Given the description of an element on the screen output the (x, y) to click on. 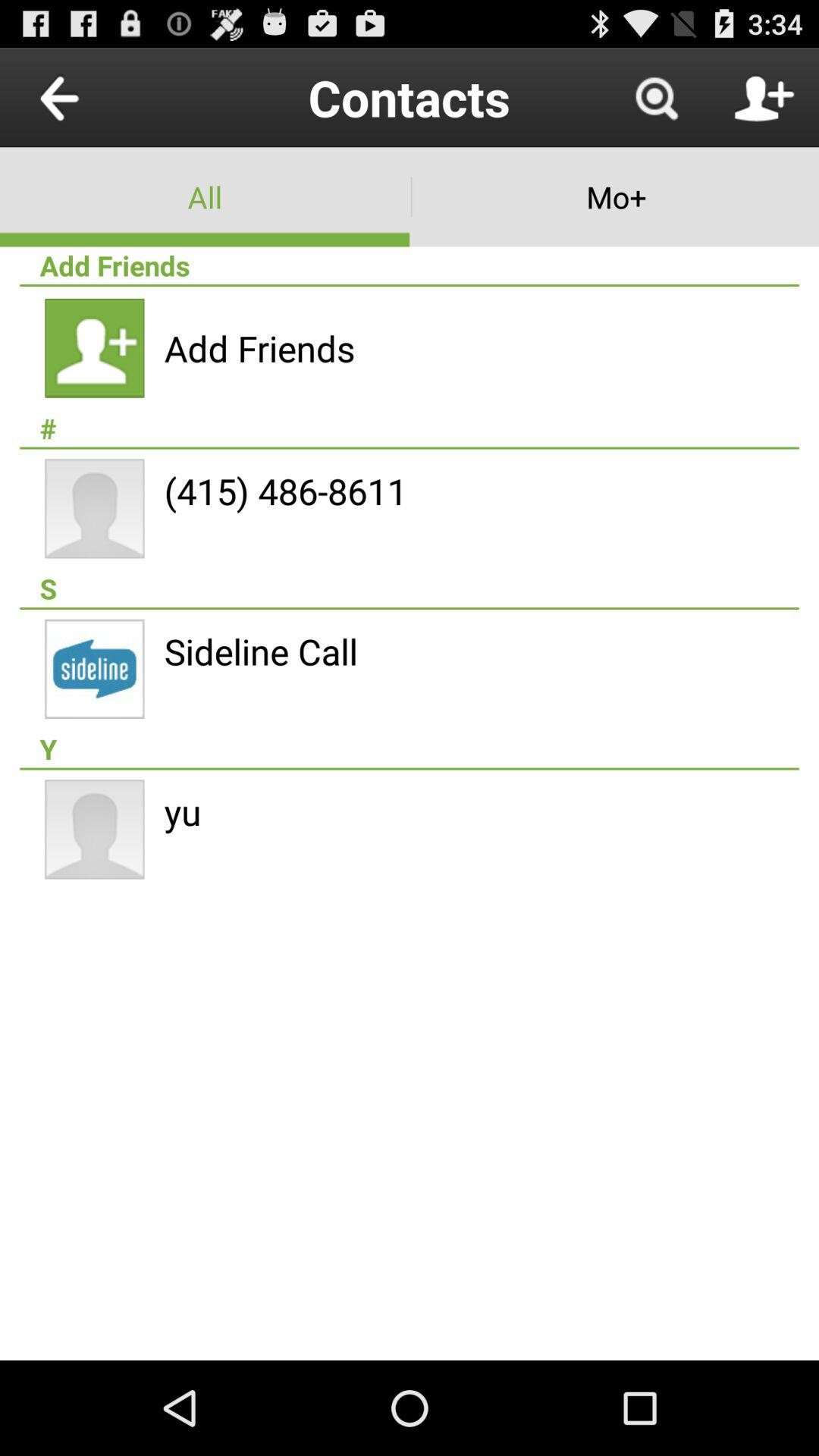
tap the sideline call item (260, 651)
